Given the description of an element on the screen output the (x, y) to click on. 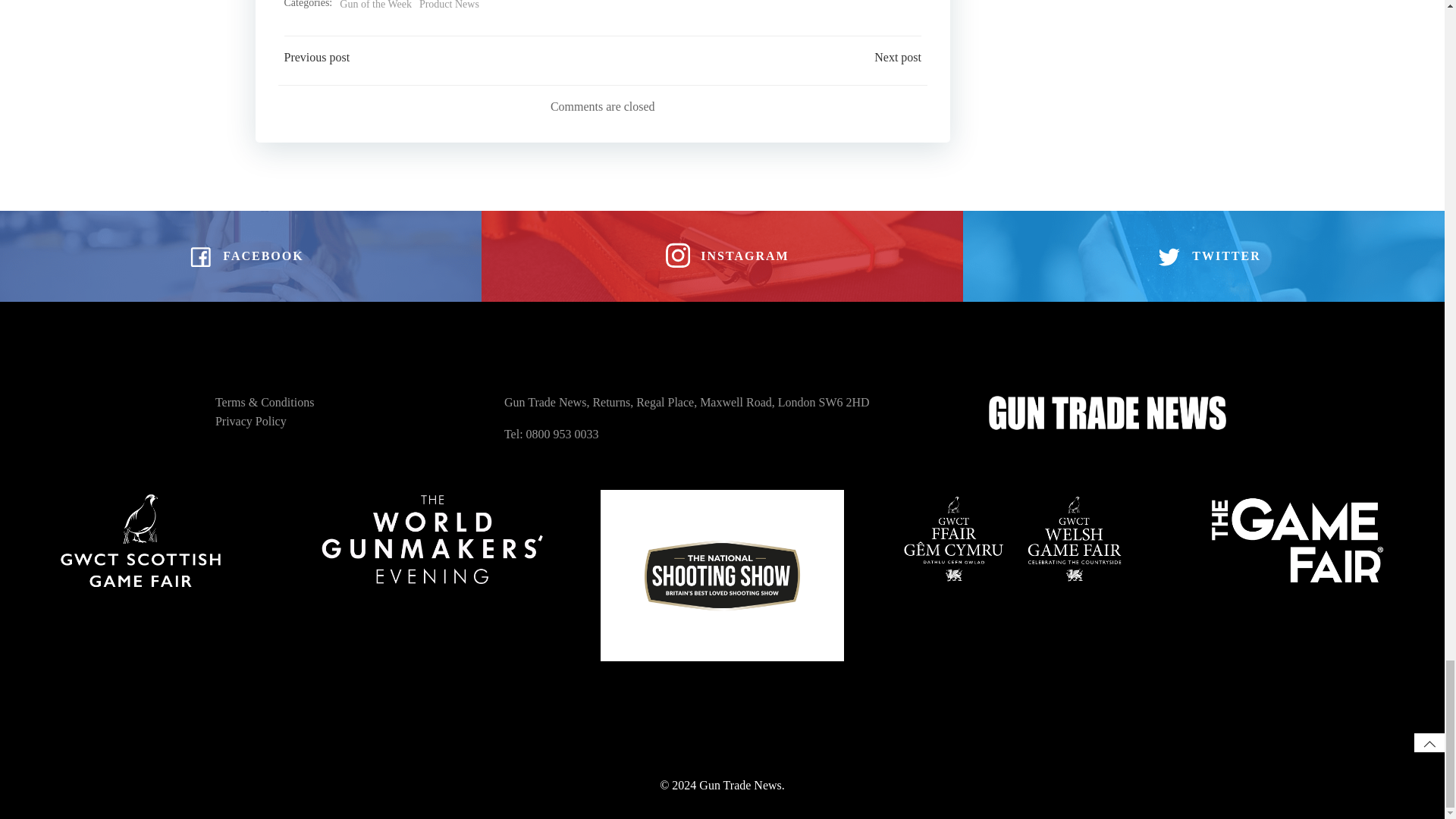
Previous post (316, 57)
Product News (449, 6)
Privacy Policy (250, 421)
Gun of the Week (375, 6)
INSTAGRAM (722, 255)
FACEBOOK (239, 255)
TWITTER (1203, 255)
Next post (898, 57)
